Given the description of an element on the screen output the (x, y) to click on. 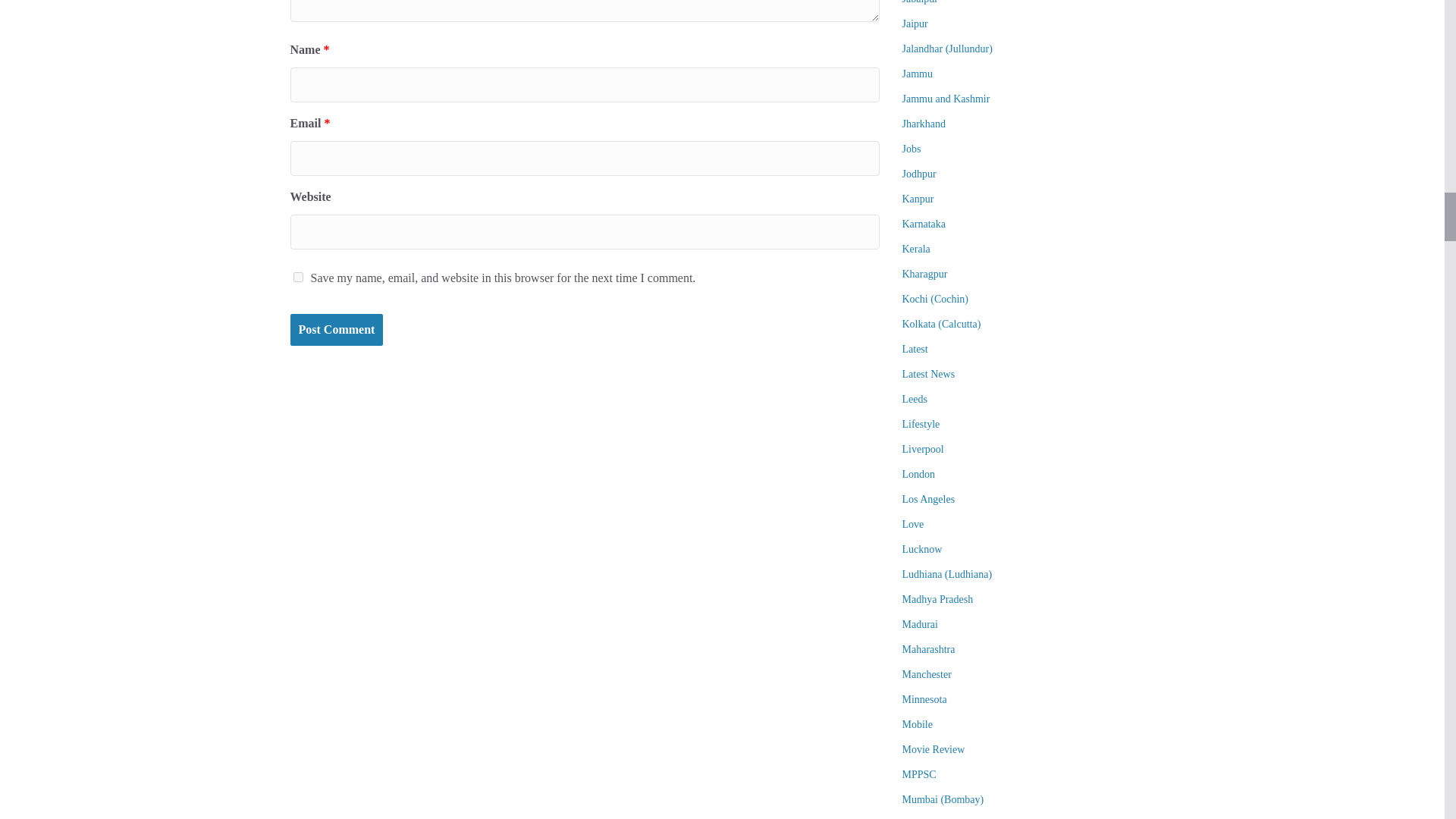
yes (297, 276)
Post Comment (335, 329)
